Given the description of an element on the screen output the (x, y) to click on. 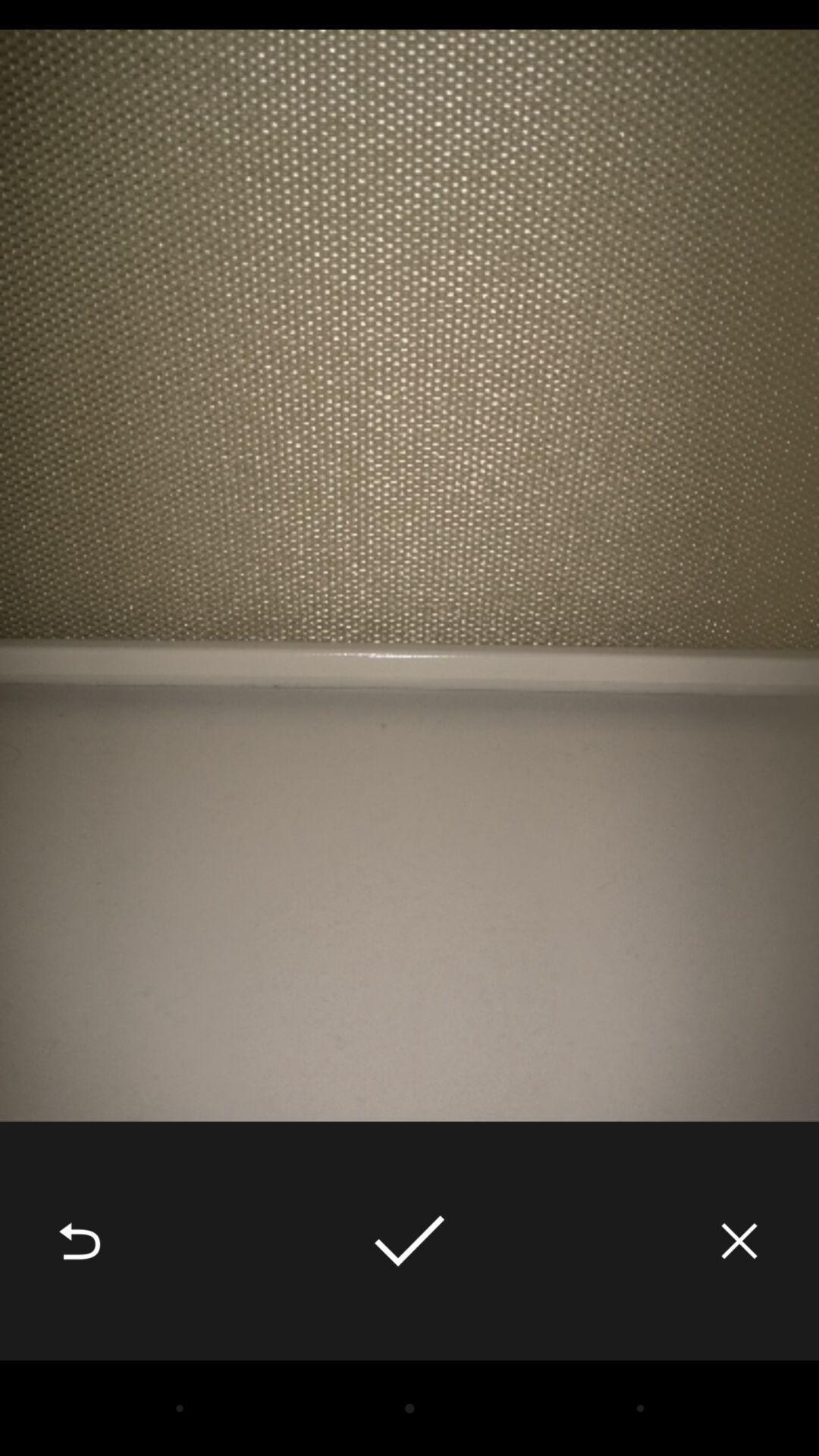
open the icon at the bottom right corner (739, 1240)
